Given the description of an element on the screen output the (x, y) to click on. 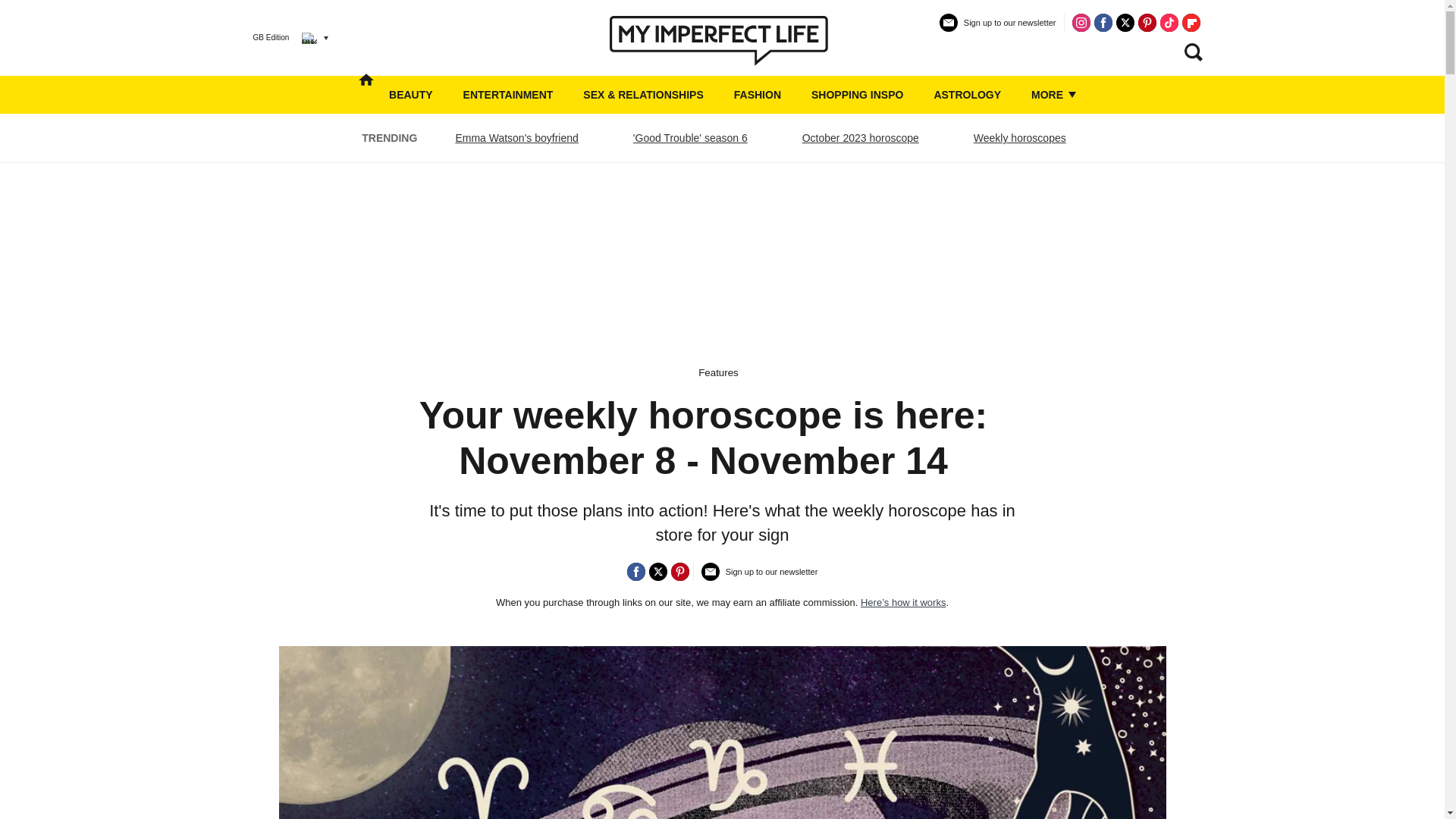
Emma Watson's boyfriend (516, 137)
ASTROLOGY (967, 94)
October 2023 horoscope (860, 137)
FASHION (756, 94)
SHOPPING INSPO (856, 94)
GB Edition (279, 37)
Weekly horoscopes (1019, 137)
Sign up to our newsletter (998, 28)
BEAUTY (410, 94)
Sign up to our newsletter (759, 577)
